Given the description of an element on the screen output the (x, y) to click on. 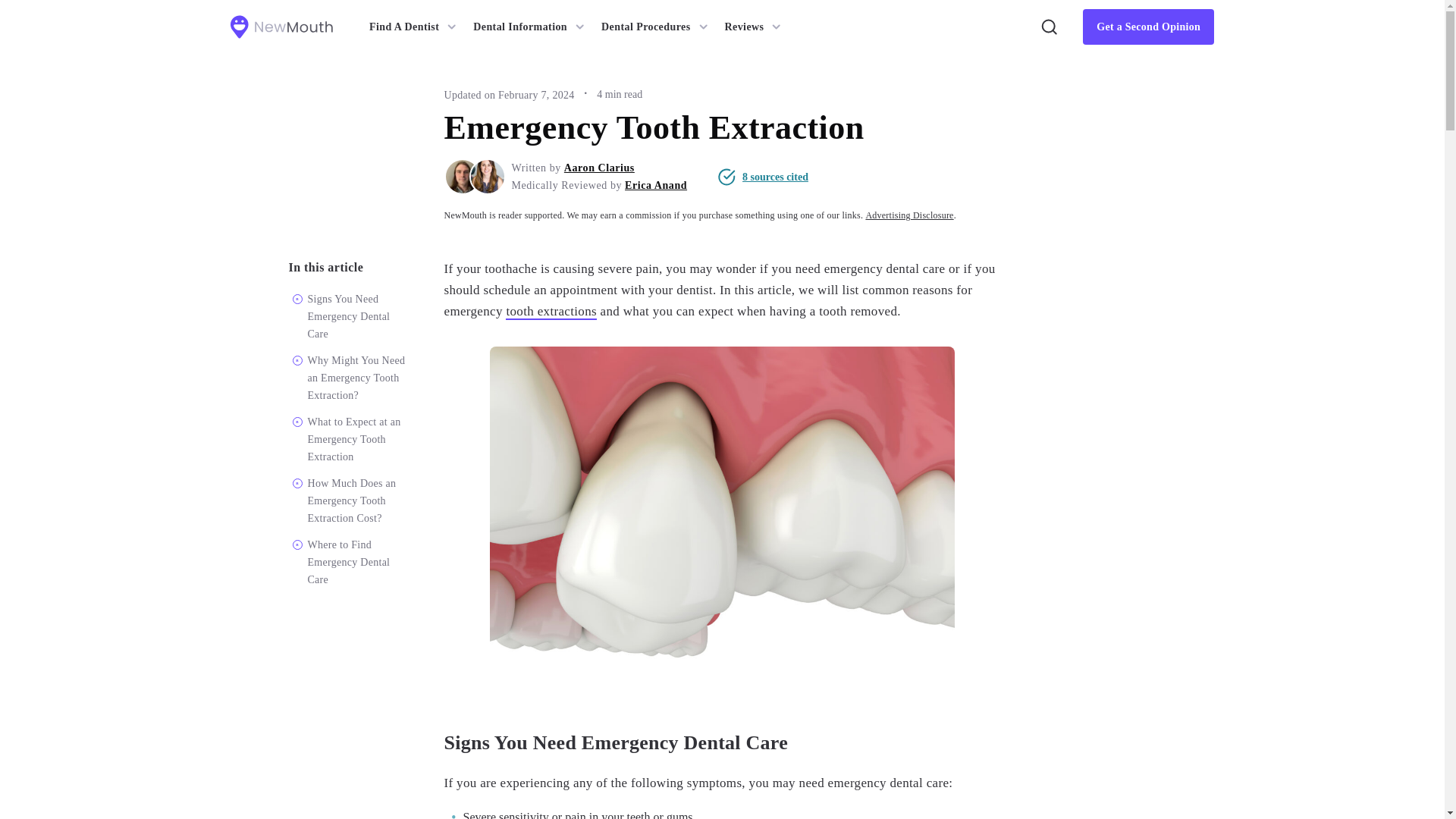
Where to Find Emergency Dental Care (348, 561)
How Much Does an Emergency Tooth Extraction Cost? (351, 500)
What to Expect at an Emergency Tooth Extraction (354, 439)
Why Might You Need an Emergency Tooth Extraction? (356, 377)
Signs You Need Emergency Dental Care (348, 316)
